Given the description of an element on the screen output the (x, y) to click on. 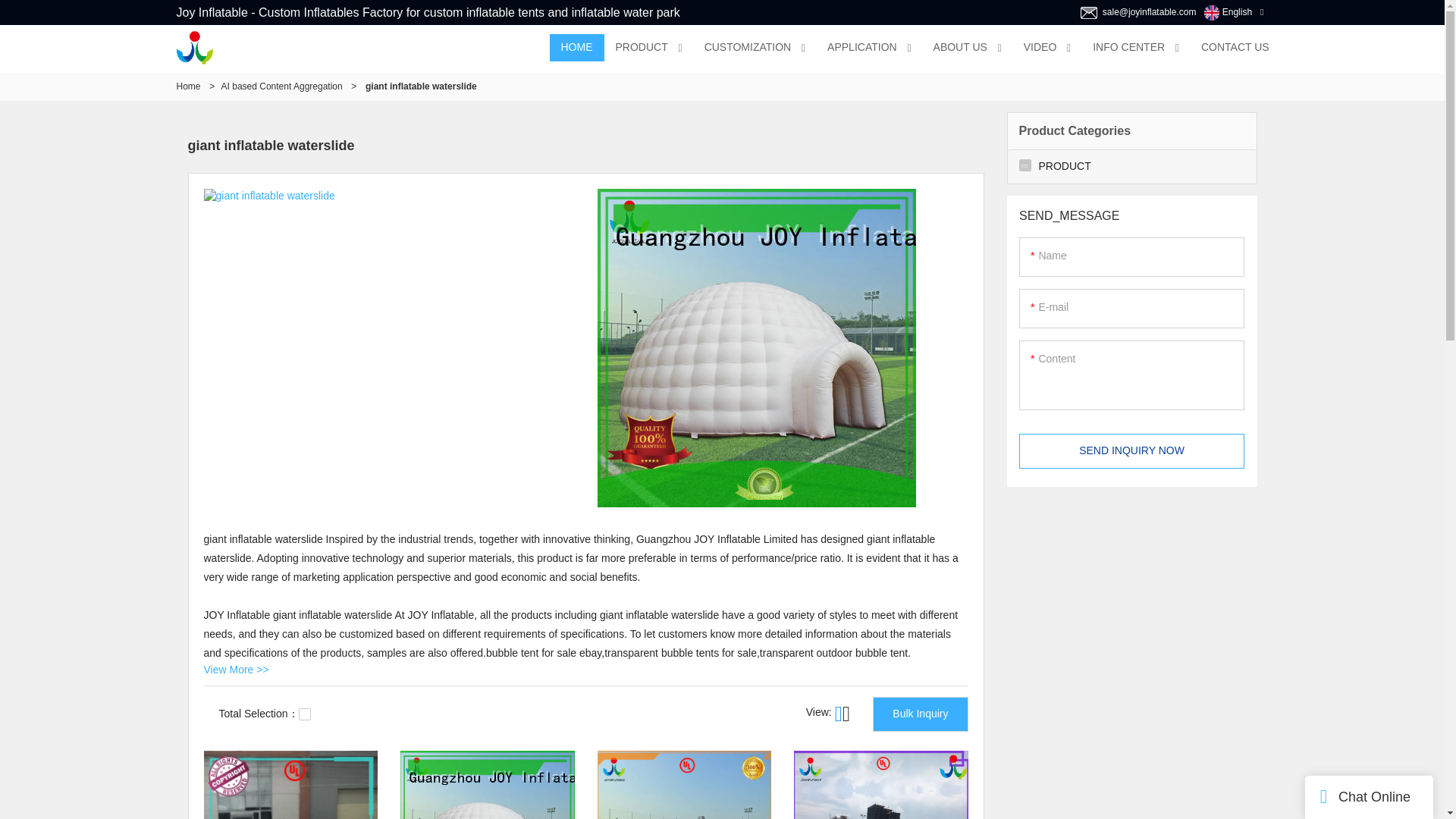
CUSTOMIZATION (748, 47)
on (304, 714)
APPLICATION (861, 47)
HOME (576, 47)
ABOUT US (959, 47)
PRODUCT (641, 47)
